Given the description of an element on the screen output the (x, y) to click on. 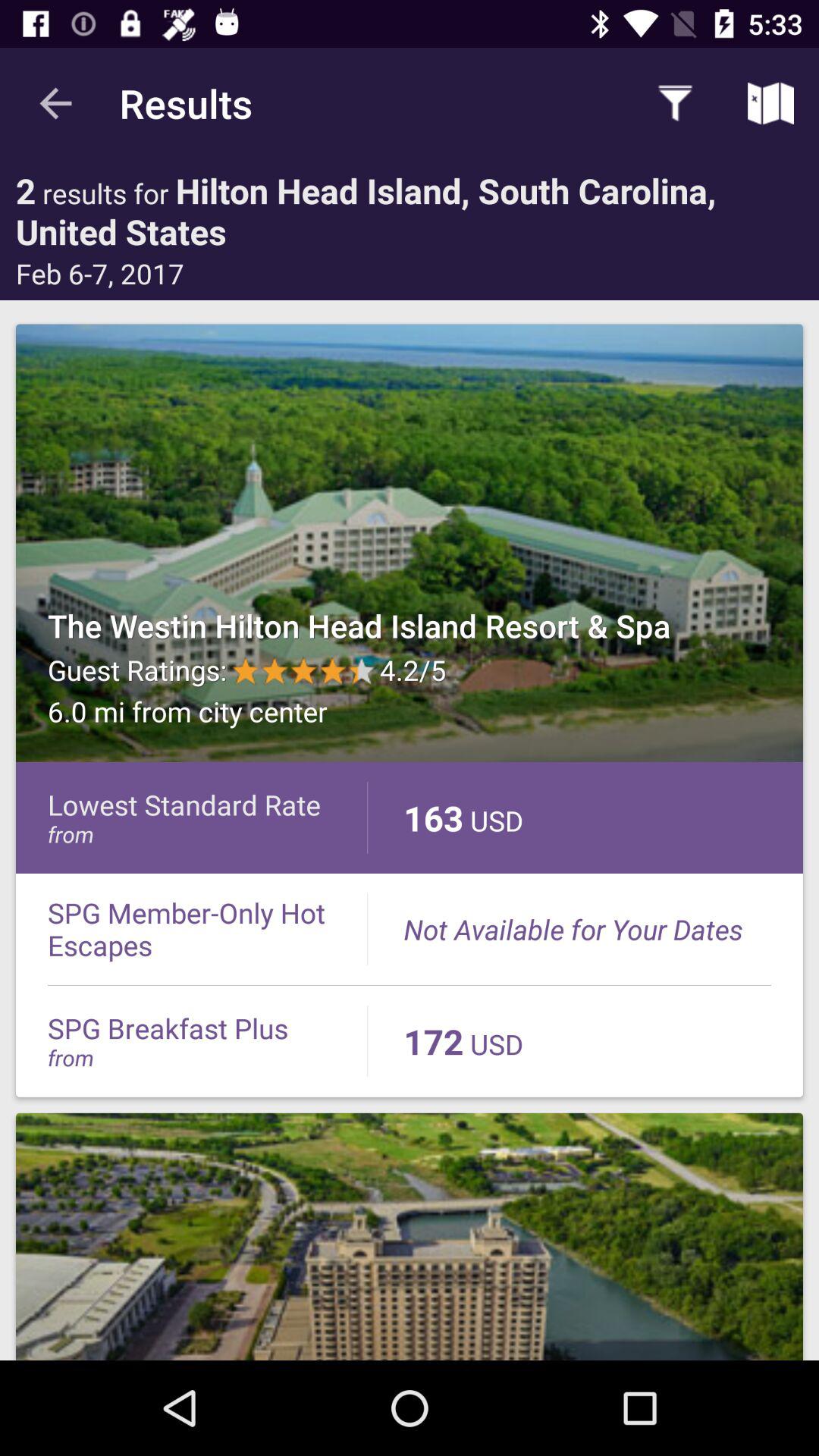
enter option (409, 543)
